Given the description of an element on the screen output the (x, y) to click on. 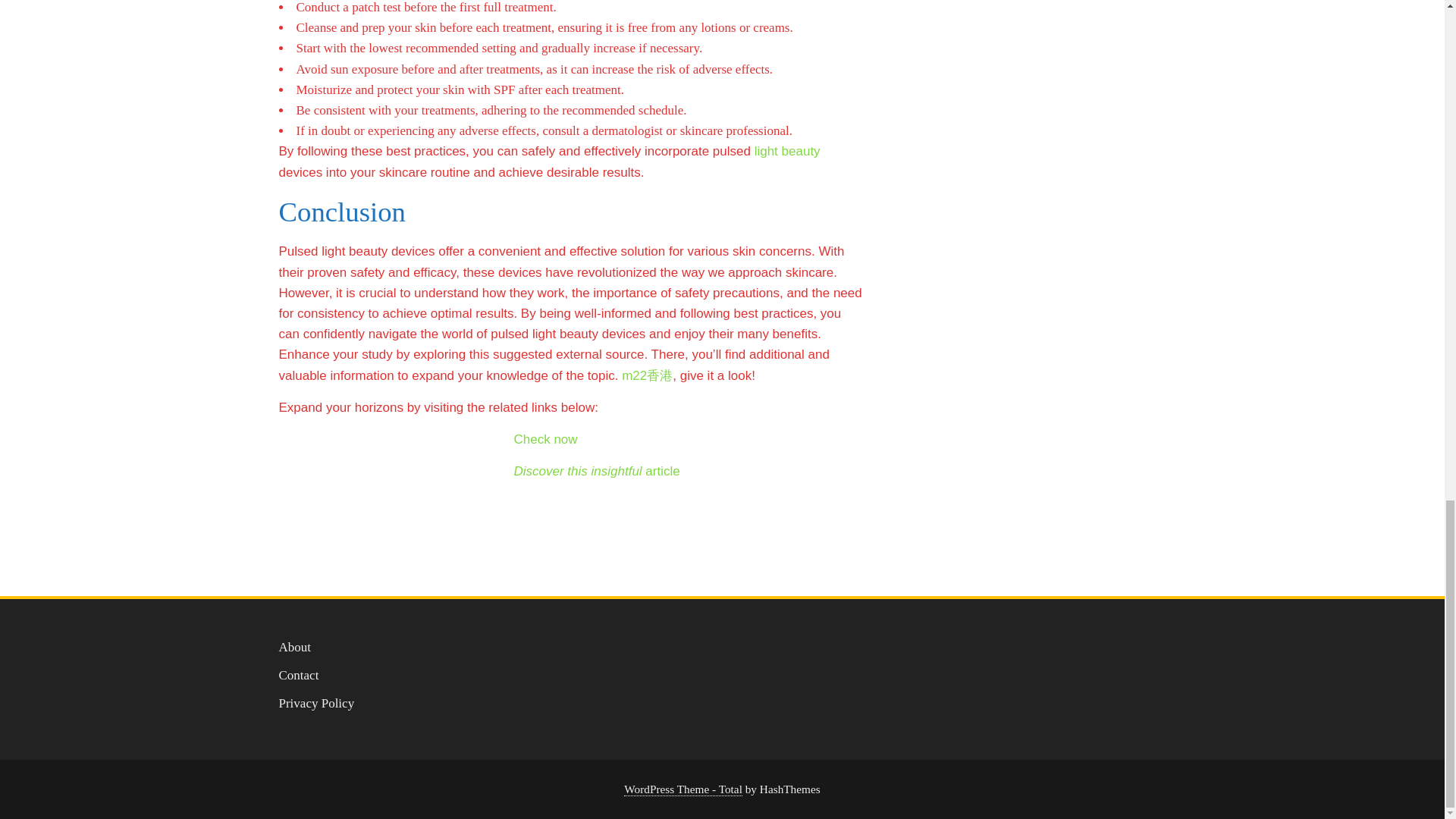
About (295, 646)
light beauty (787, 151)
Check now (545, 439)
WordPress Theme - Total (683, 789)
Privacy Policy (317, 703)
Contact (298, 675)
Discover this insightful article (596, 471)
